Given the description of an element on the screen output the (x, y) to click on. 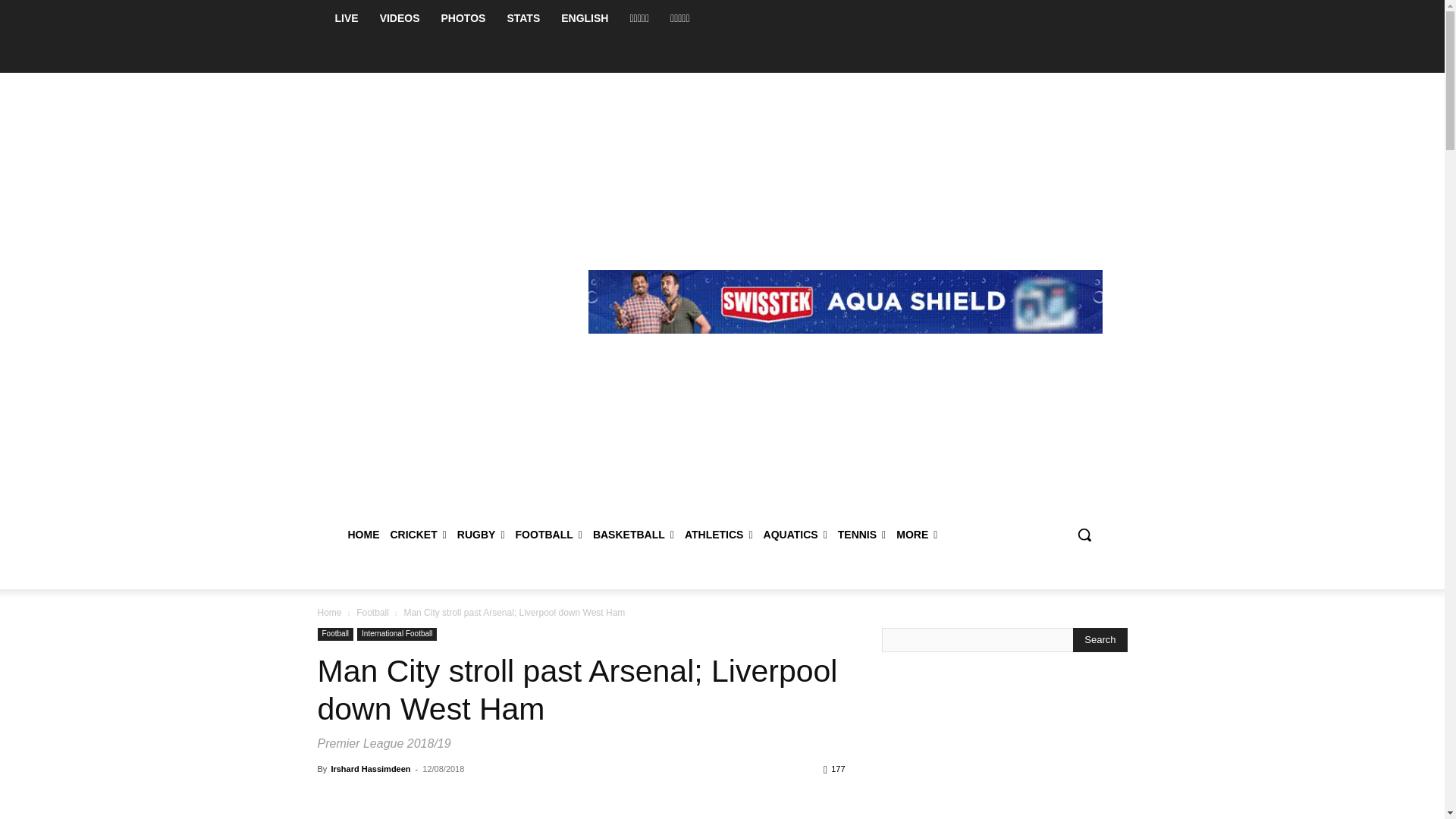
Search (1099, 639)
View all posts in Football (372, 612)
